Given the description of an element on the screen output the (x, y) to click on. 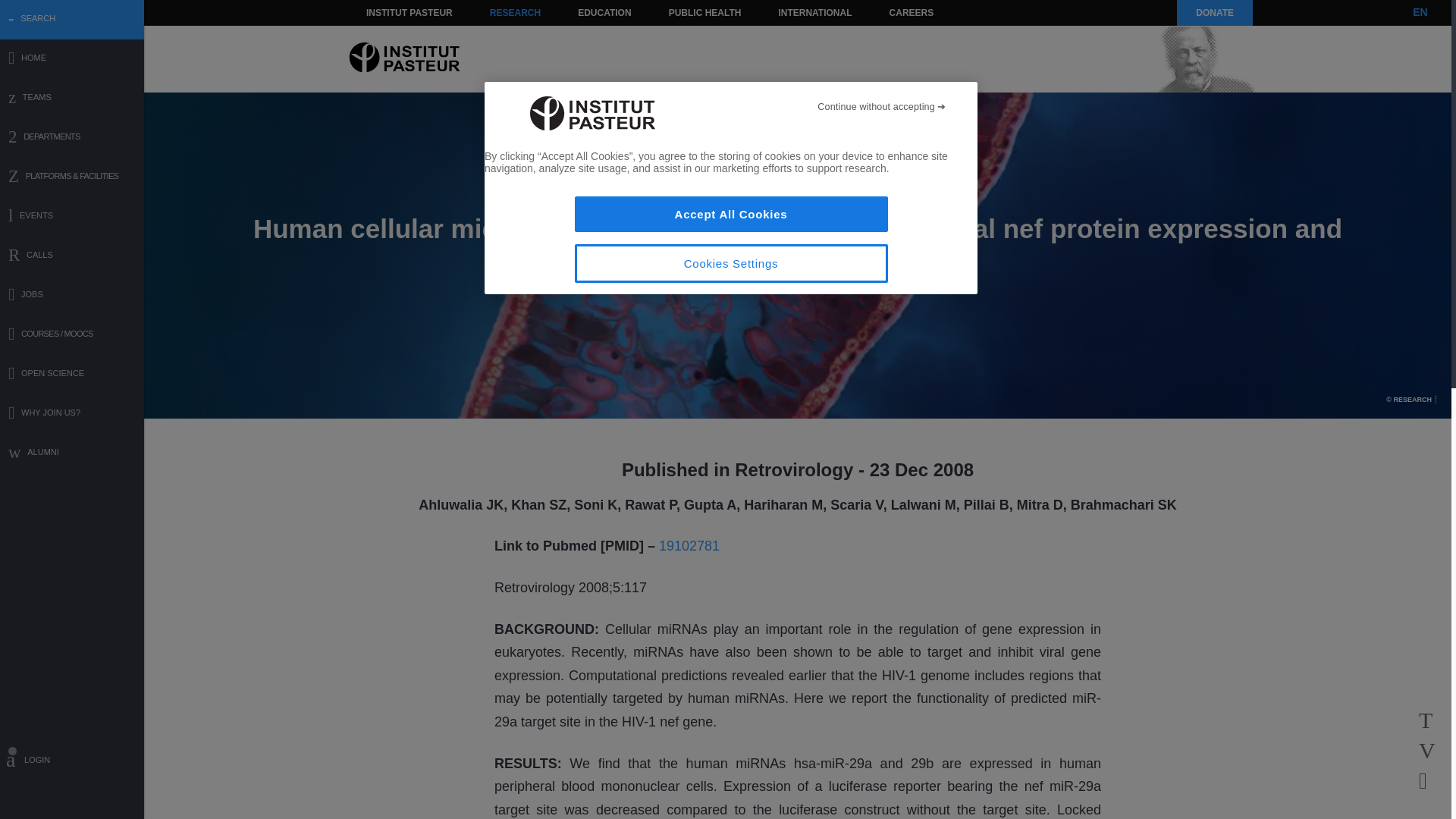
Skip to content (387, 11)
INTERNATIONAL (814, 12)
Skip to content (387, 11)
EN (1419, 11)
CALLS (72, 256)
DEPARTMENTS (72, 137)
INSTITUT PASTEUR (409, 12)
WHY JOIN US? (72, 413)
JOBS (72, 296)
DONATE (1214, 12)
ALUMNI (72, 454)
RESEARCH (515, 12)
TEAMS (72, 98)
HOME (72, 59)
PUBLIC HEALTH (705, 12)
